Given the description of an element on the screen output the (x, y) to click on. 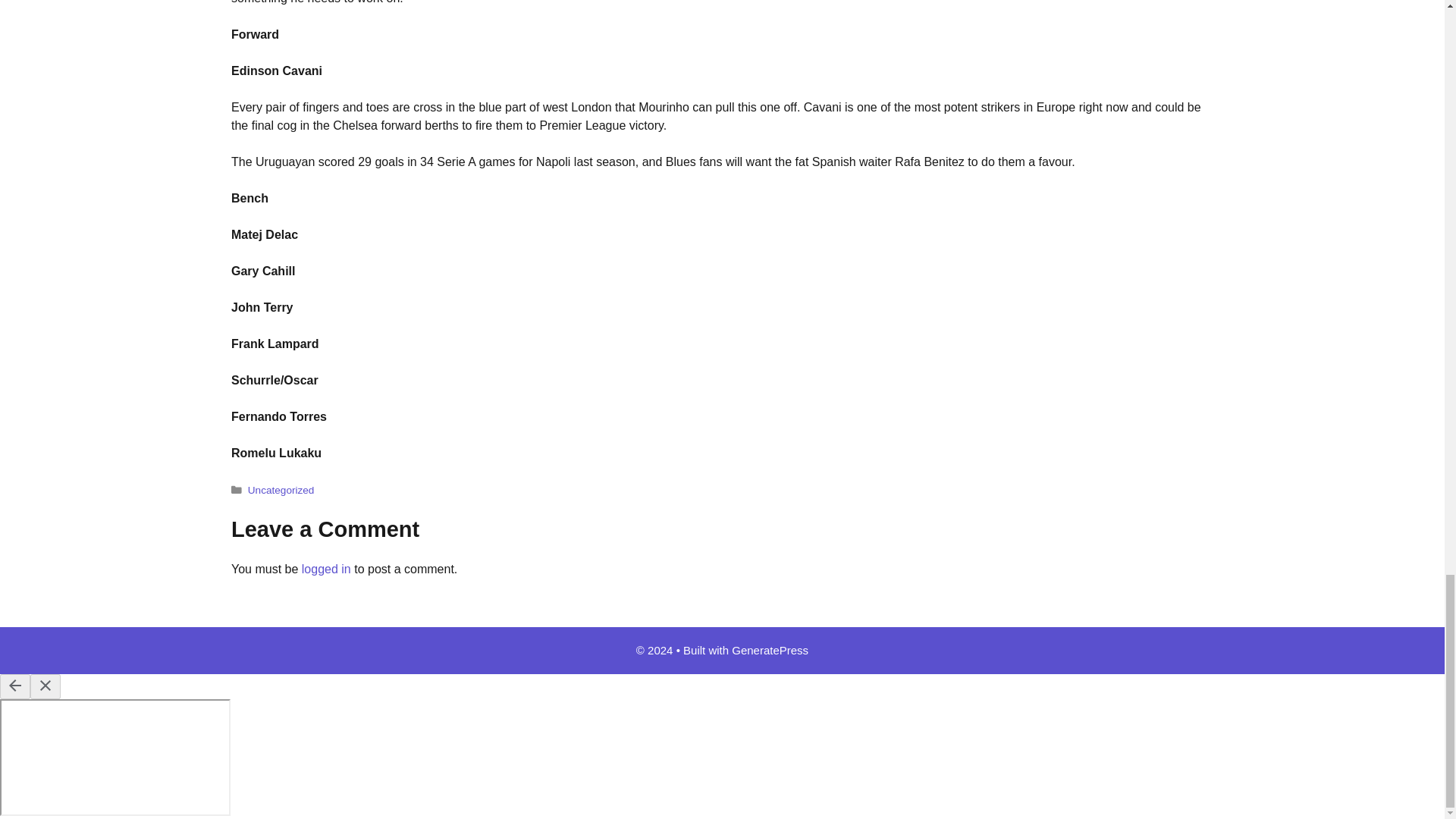
GeneratePress (770, 649)
logged in (325, 568)
Uncategorized (280, 490)
